Given the description of an element on the screen output the (x, y) to click on. 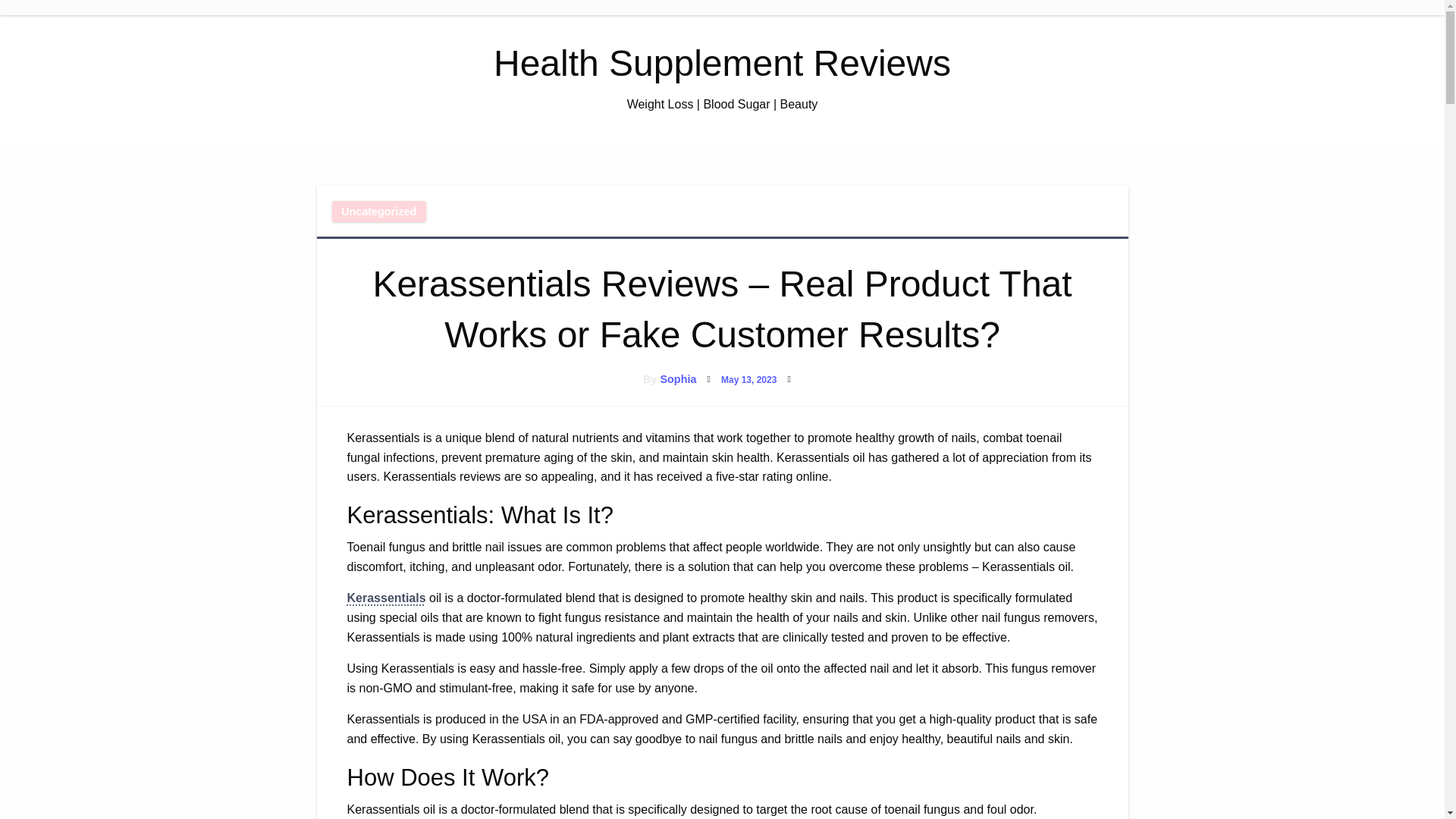
May 13, 2023 (748, 379)
Sophia (677, 378)
Uncategorized (378, 210)
Kerassentials (386, 597)
Sophia (677, 378)
Health Supplement Reviews (721, 63)
